Given the description of an element on the screen output the (x, y) to click on. 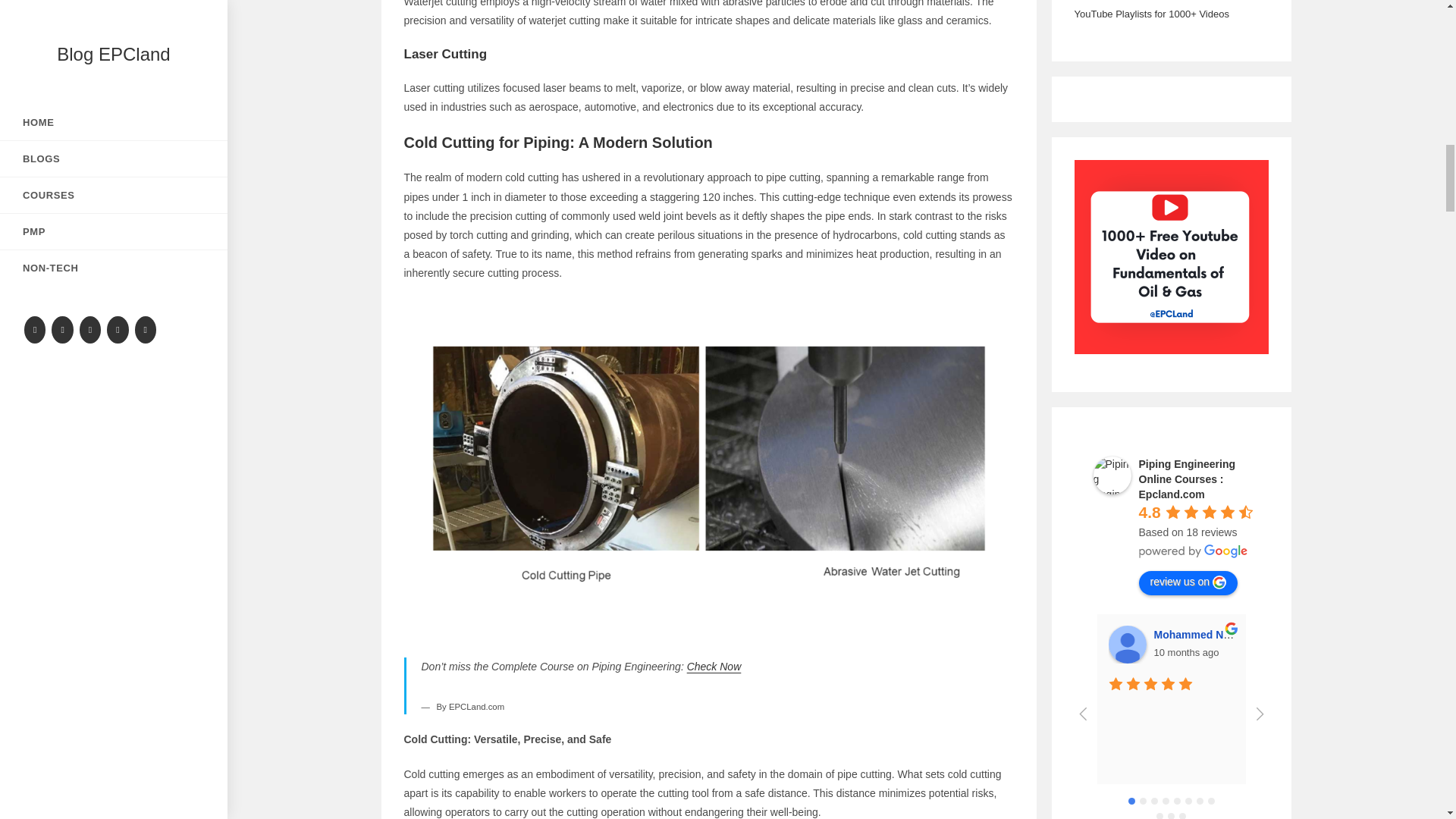
powered by Google (1192, 550)
Piping Engineering Online Courses : Epcland.com (1112, 475)
Durga Prasad Patnaik (1291, 644)
Mohammed Noureldein (1127, 644)
